Given the description of an element on the screen output the (x, y) to click on. 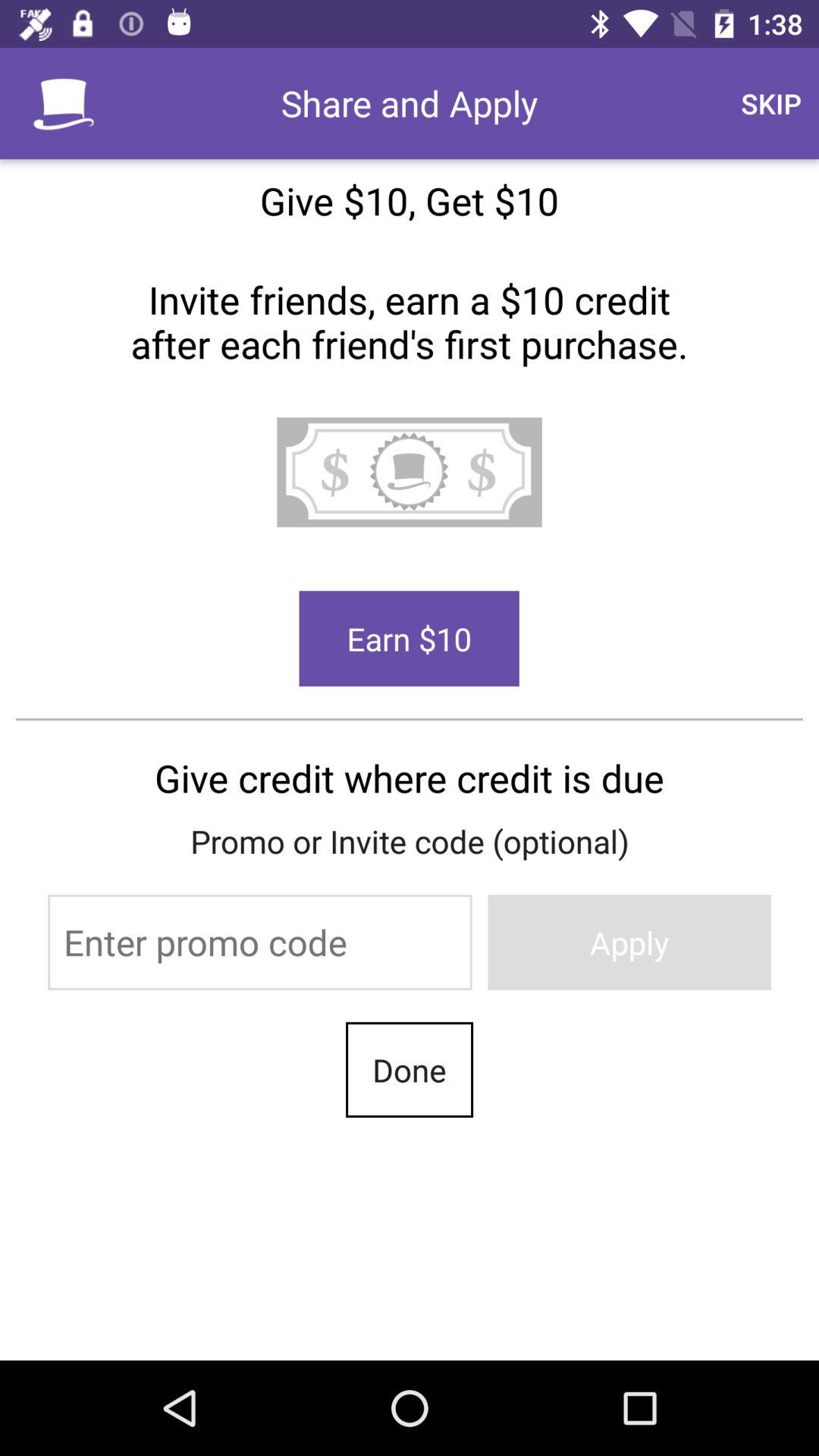
choose done (409, 1069)
